Given the description of an element on the screen output the (x, y) to click on. 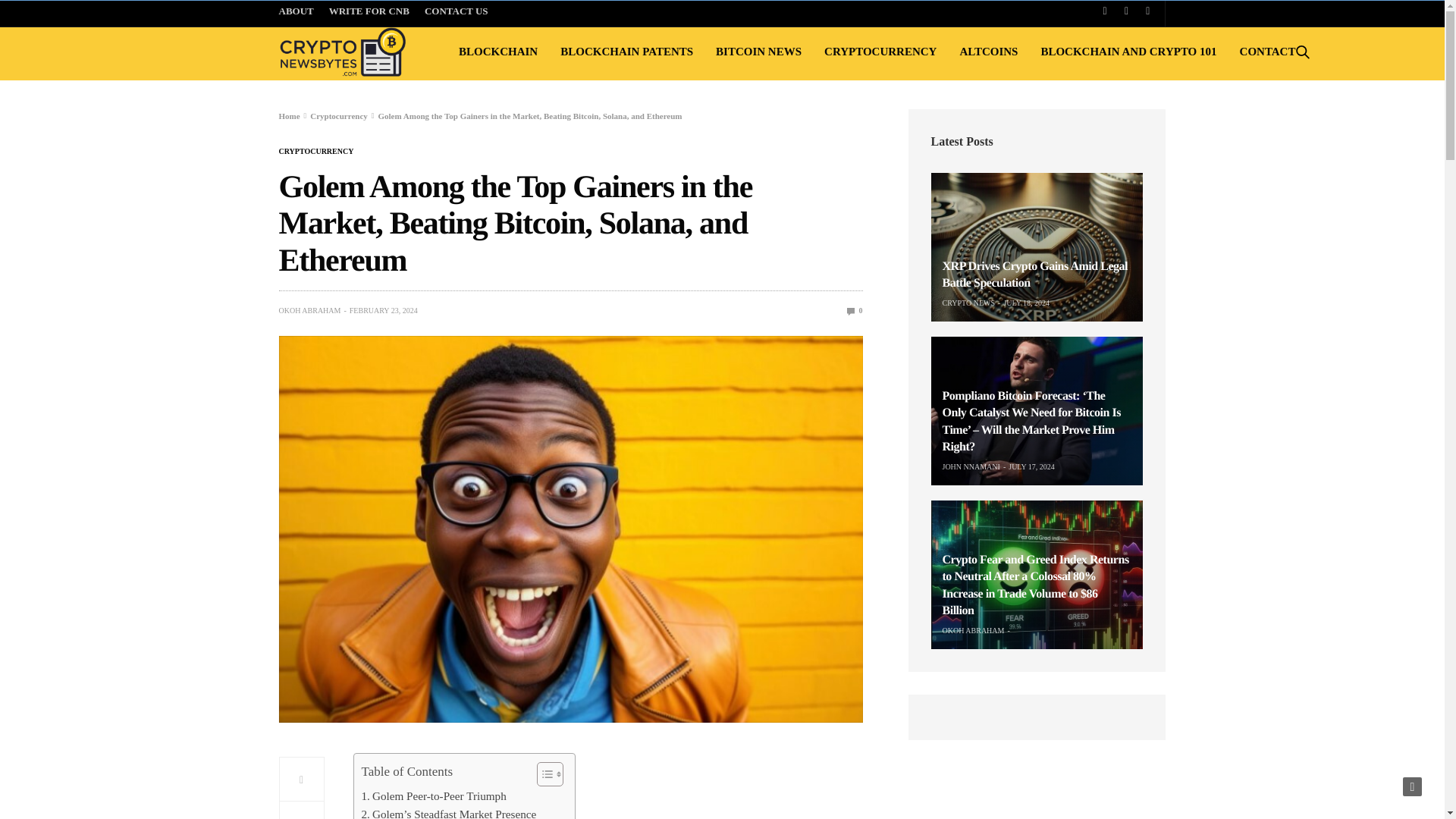
Home (289, 115)
WRITE FOR CNB (368, 13)
Golem Peer-to-Peer Triumph (433, 796)
Cryptocurrency (316, 151)
Cryptocurrency (339, 115)
CONTACT (1267, 51)
Posts by Okoh Abraham (309, 310)
BLOCKCHAIN AND CRYPTO 101 (1128, 51)
BLOCKCHAIN (497, 51)
ALTCOINS (988, 51)
BITCOIN NEWS (759, 51)
CRYPTOCURRENCY (880, 51)
Search (1283, 116)
BLOCKCHAIN PATENTS (626, 51)
